Given the description of an element on the screen output the (x, y) to click on. 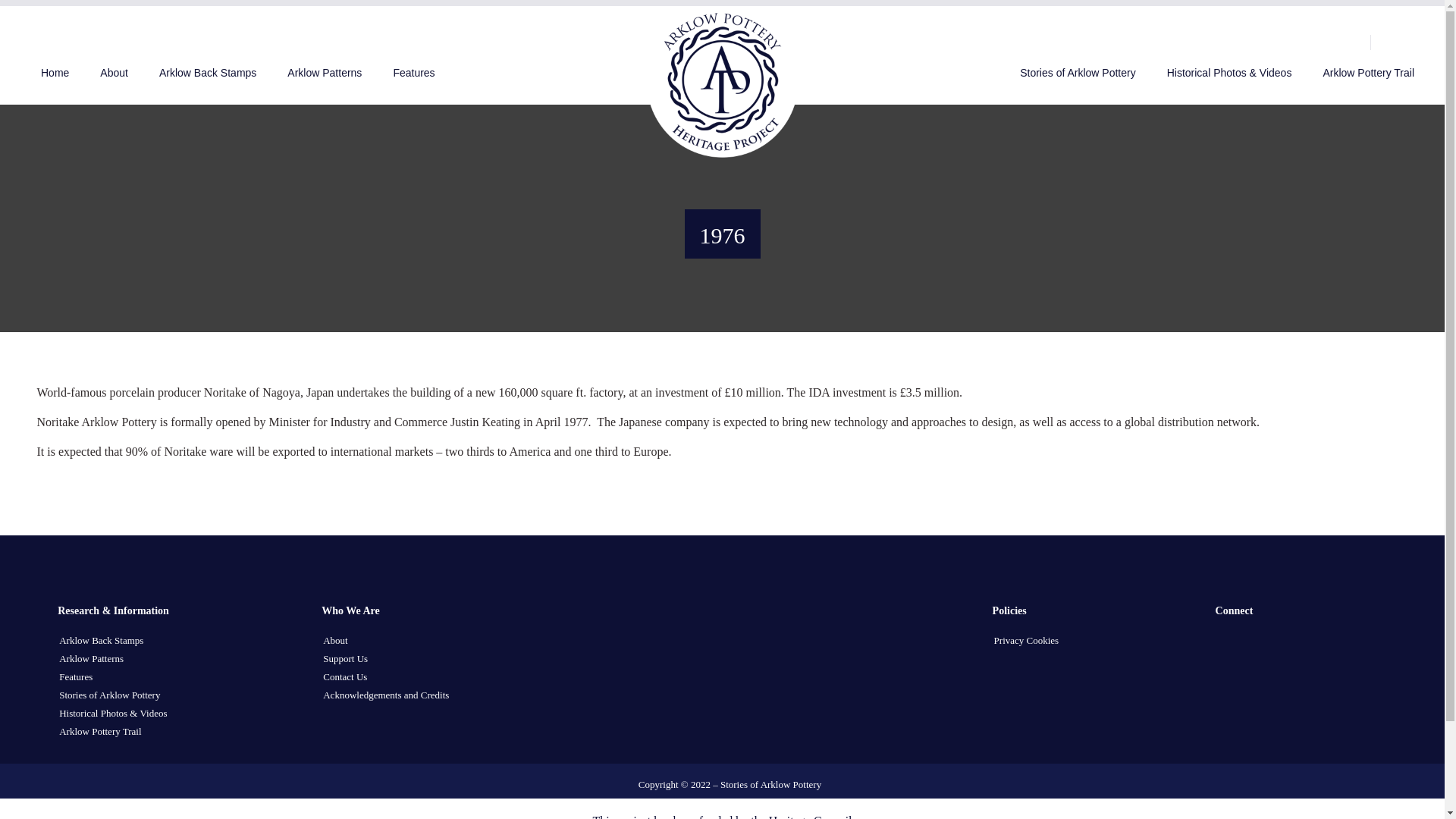
Arklow Back Stamps (100, 640)
Features (413, 74)
Support Us (345, 658)
Stories of Arklow Pottery (109, 695)
Arklow Patterns (91, 658)
Privacy Cookies (1026, 640)
Arklow Back Stamps (207, 74)
About (335, 640)
Contact Us (344, 676)
About (114, 74)
